Given the description of an element on the screen output the (x, y) to click on. 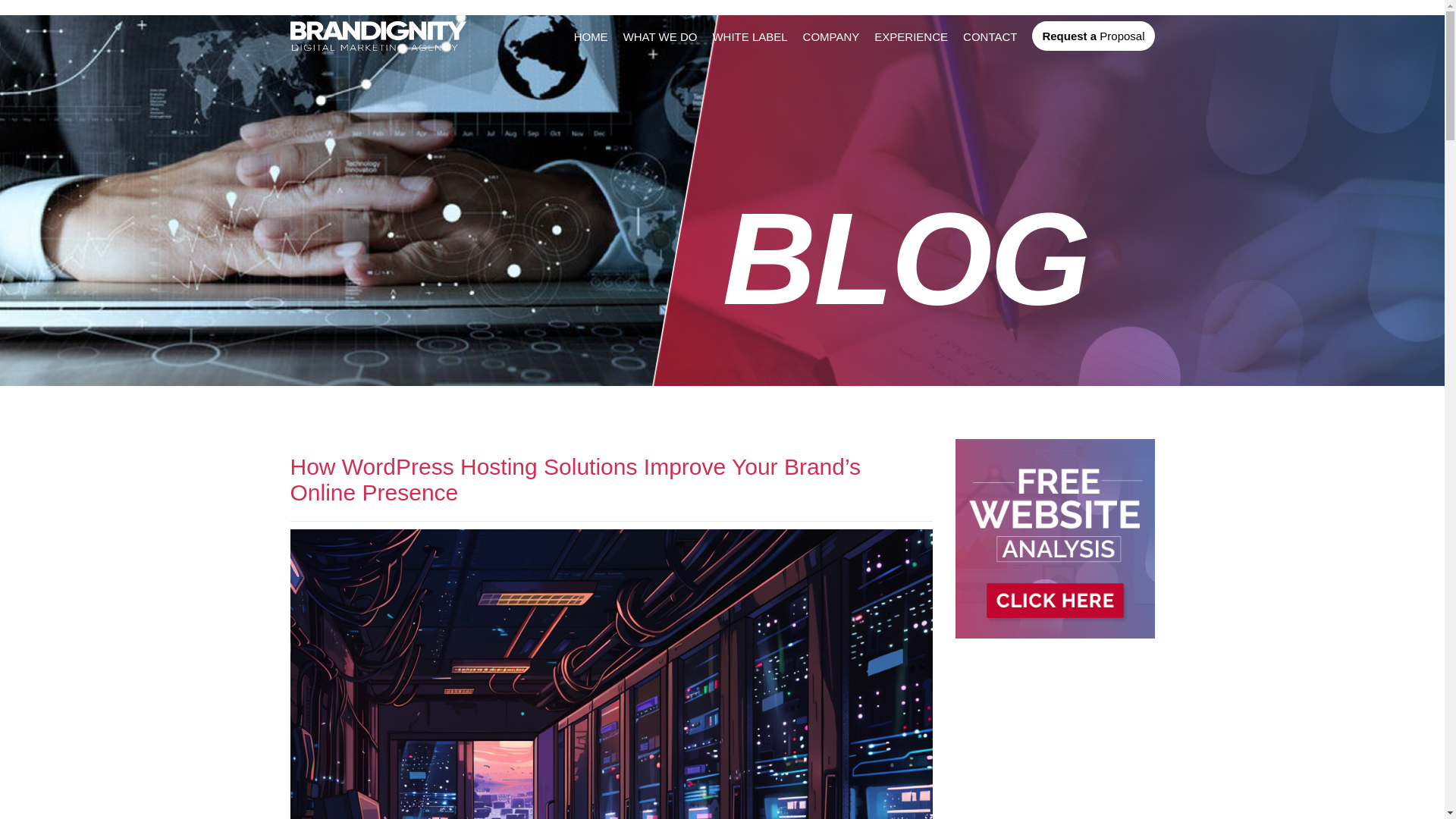
Submit (437, 394)
WHAT WE DO (660, 36)
COMPANY (831, 36)
EXPERIENCE (911, 36)
WHITE LABEL (749, 36)
BrandDignity (377, 35)
CONTACT (989, 36)
HOME (590, 36)
